Given the description of an element on the screen output the (x, y) to click on. 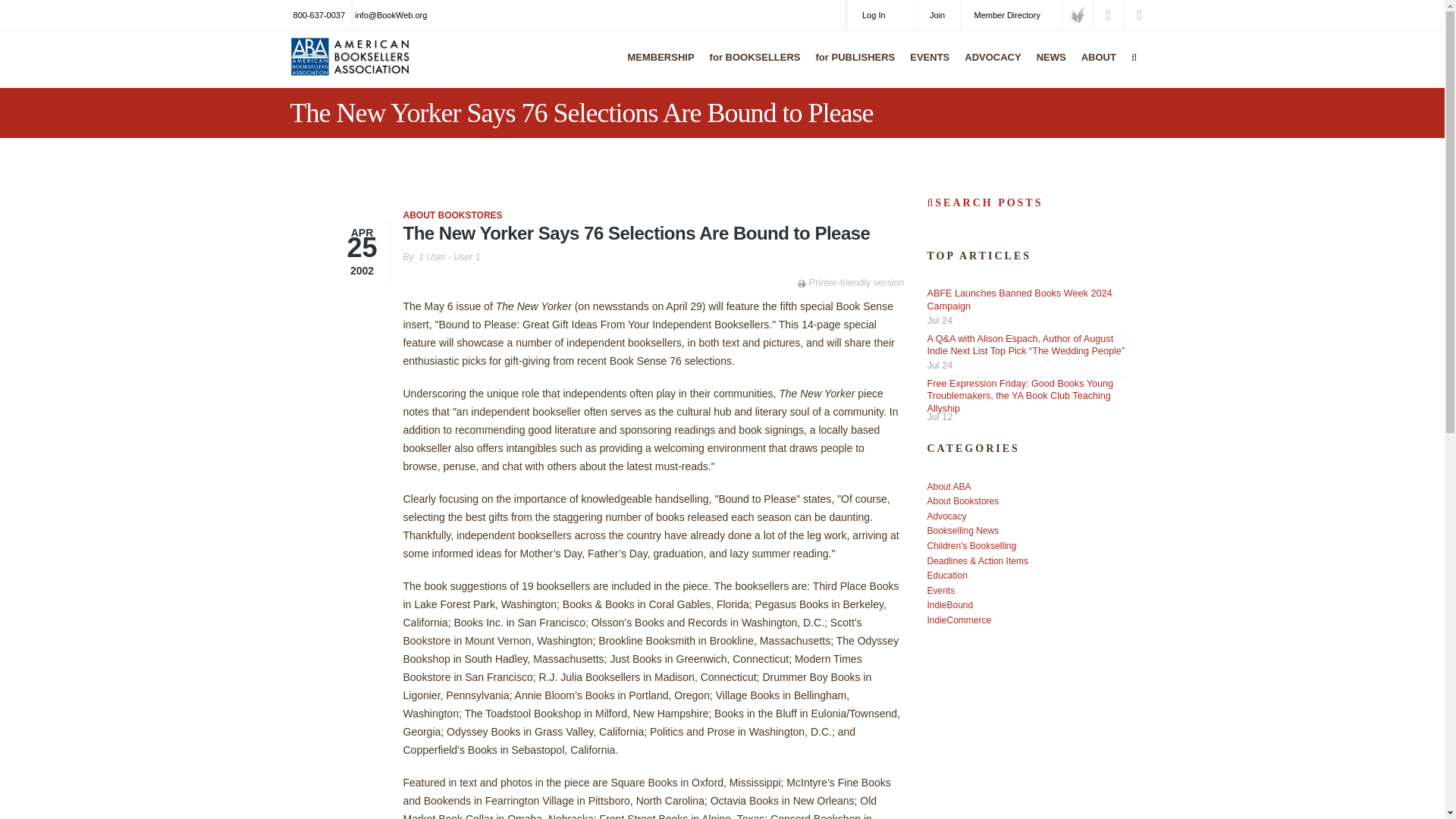
Log In (880, 15)
Member Directory (1010, 15)
Display a printer-friendly version of this page. (850, 282)
MEMBERSHIP (656, 66)
for BOOKSELLERS (751, 66)
Printer-friendly version (802, 283)
Join (937, 15)
